Given the description of an element on the screen output the (x, y) to click on. 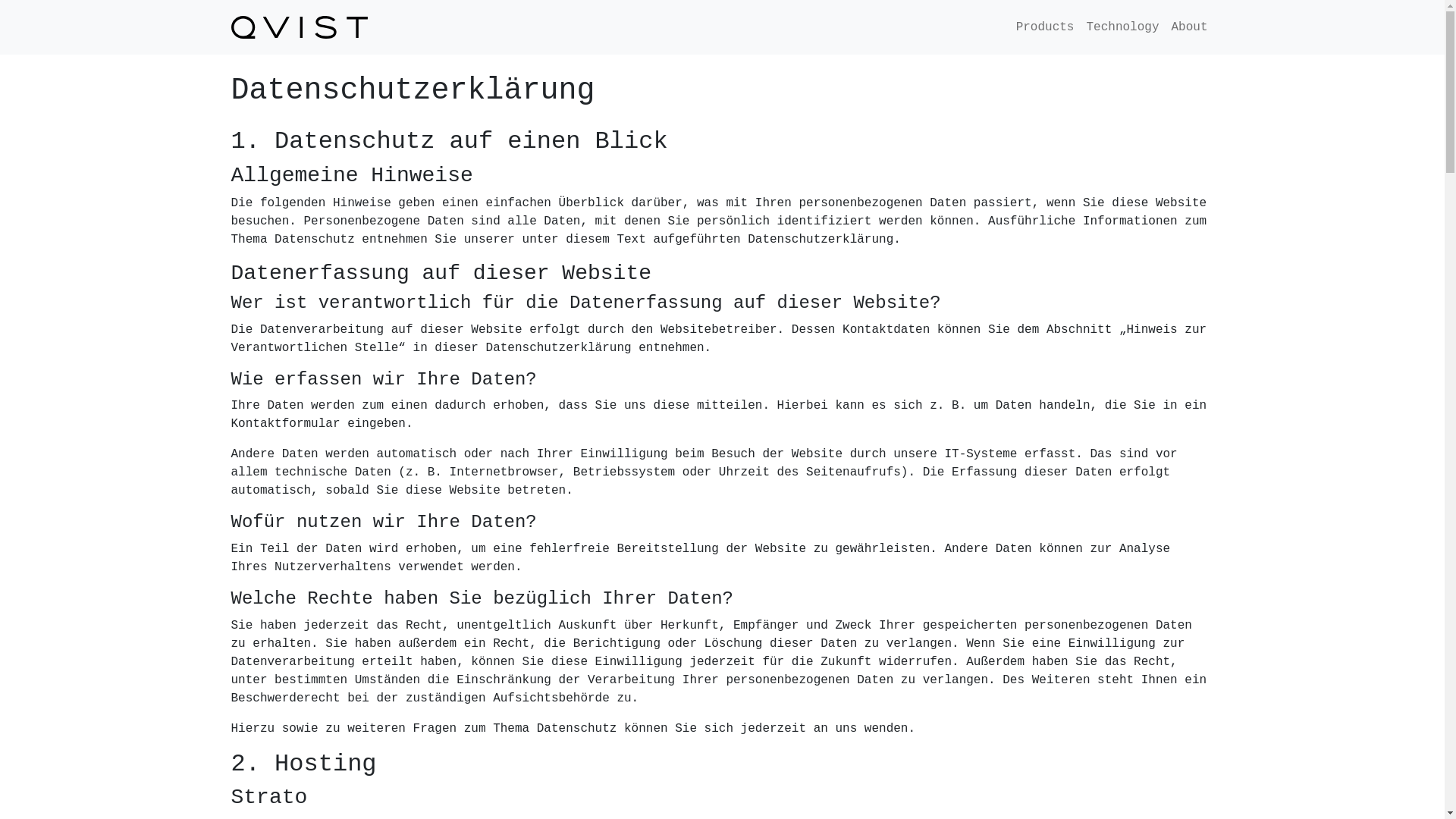
Technology Element type: text (1121, 27)
About Element type: text (1188, 27)
Products Element type: text (1045, 27)
